Given the description of an element on the screen output the (x, y) to click on. 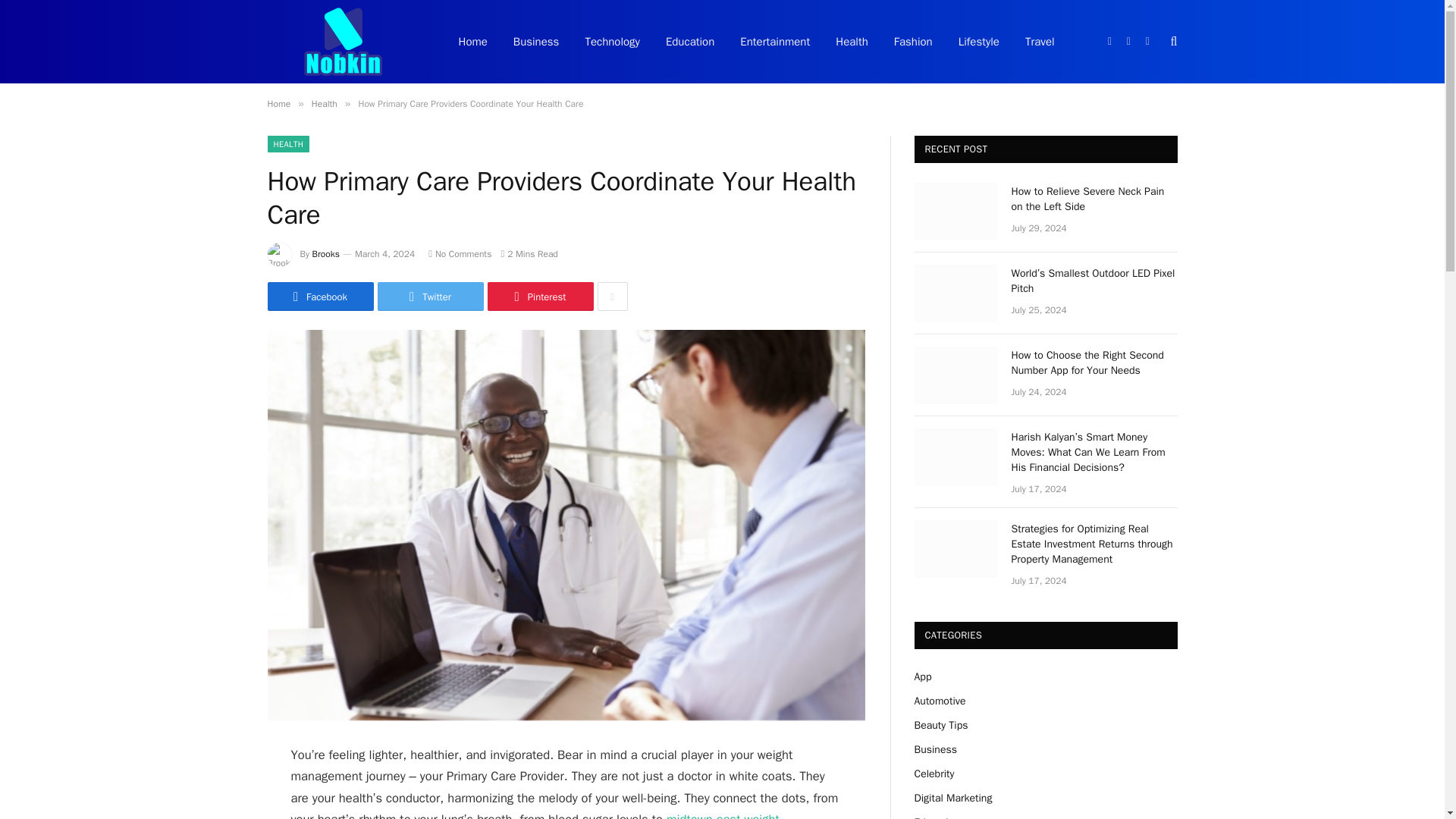
Home (472, 41)
midtown east weight management (534, 815)
Share on Pinterest (539, 296)
Lifestyle (977, 41)
Brooks (326, 254)
Twitter (430, 296)
HEALTH (287, 143)
Posts by Brooks (326, 254)
Home (277, 103)
Travel (1039, 41)
Entertainment (774, 41)
Fashion (912, 41)
Health (324, 103)
No Comments (460, 254)
